Given the description of an element on the screen output the (x, y) to click on. 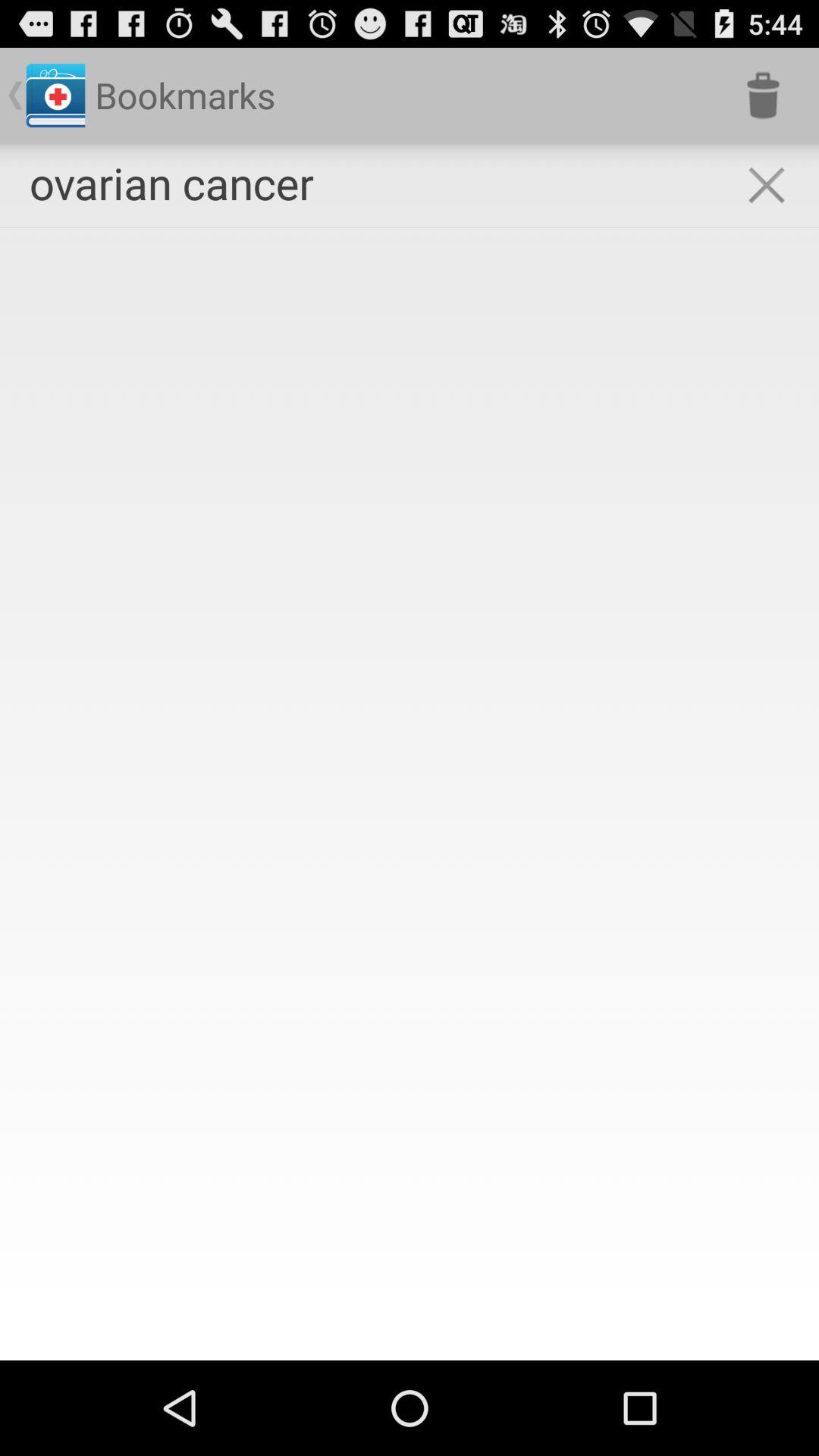
tap icon to the right of the ovarian cancer item (766, 185)
